Given the description of an element on the screen output the (x, y) to click on. 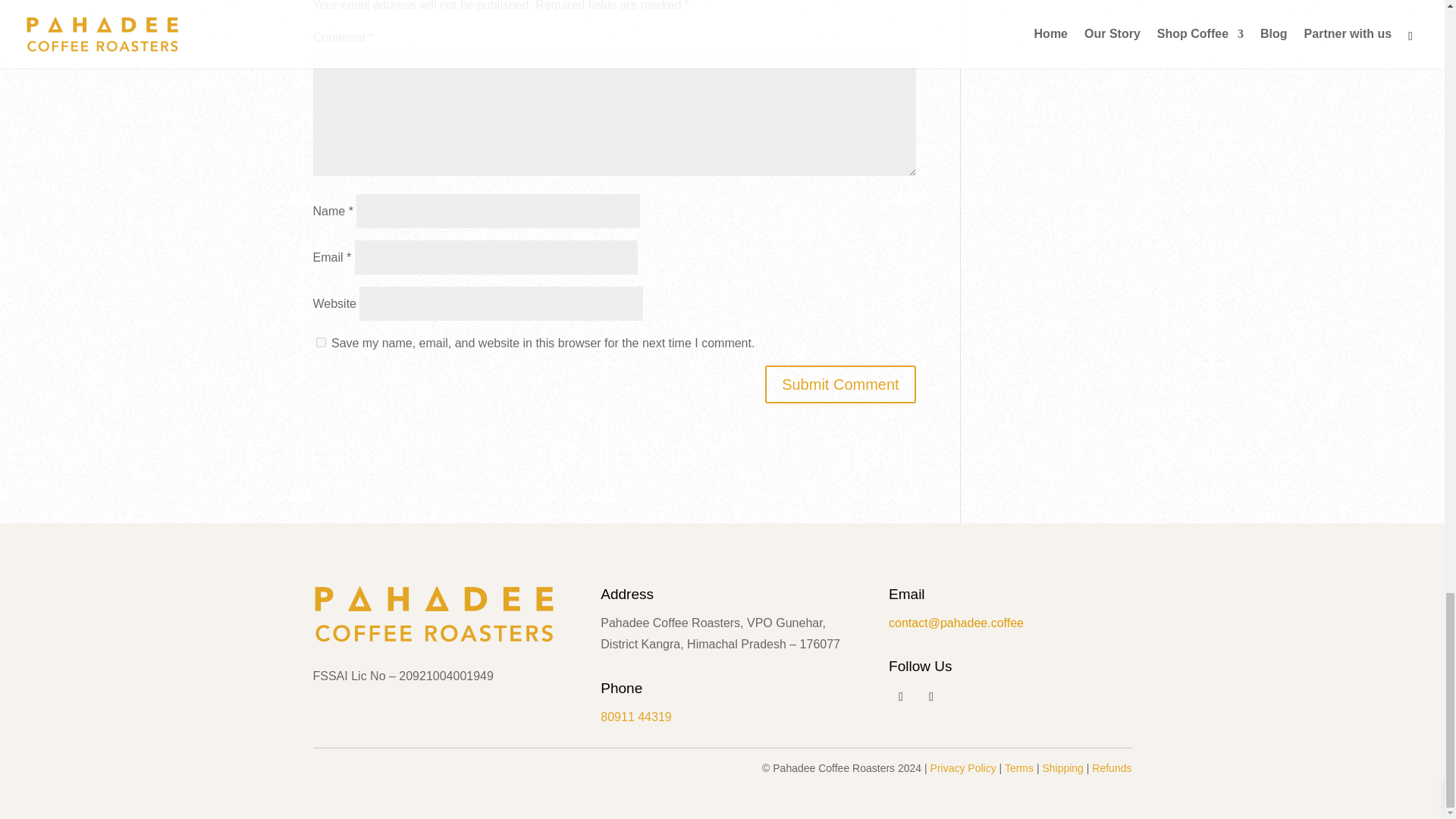
80911 44319 (635, 716)
Submit Comment (840, 384)
yes (319, 342)
Pahadee Coffee Roasters (433, 613)
Follow on Instagram (900, 696)
Privacy Policy (964, 767)
Shipping (1064, 767)
Call Us (635, 716)
Submit Comment (840, 384)
Terms (1020, 767)
Follow on WhatsApp (930, 696)
Refunds (1111, 767)
